Given the description of an element on the screen output the (x, y) to click on. 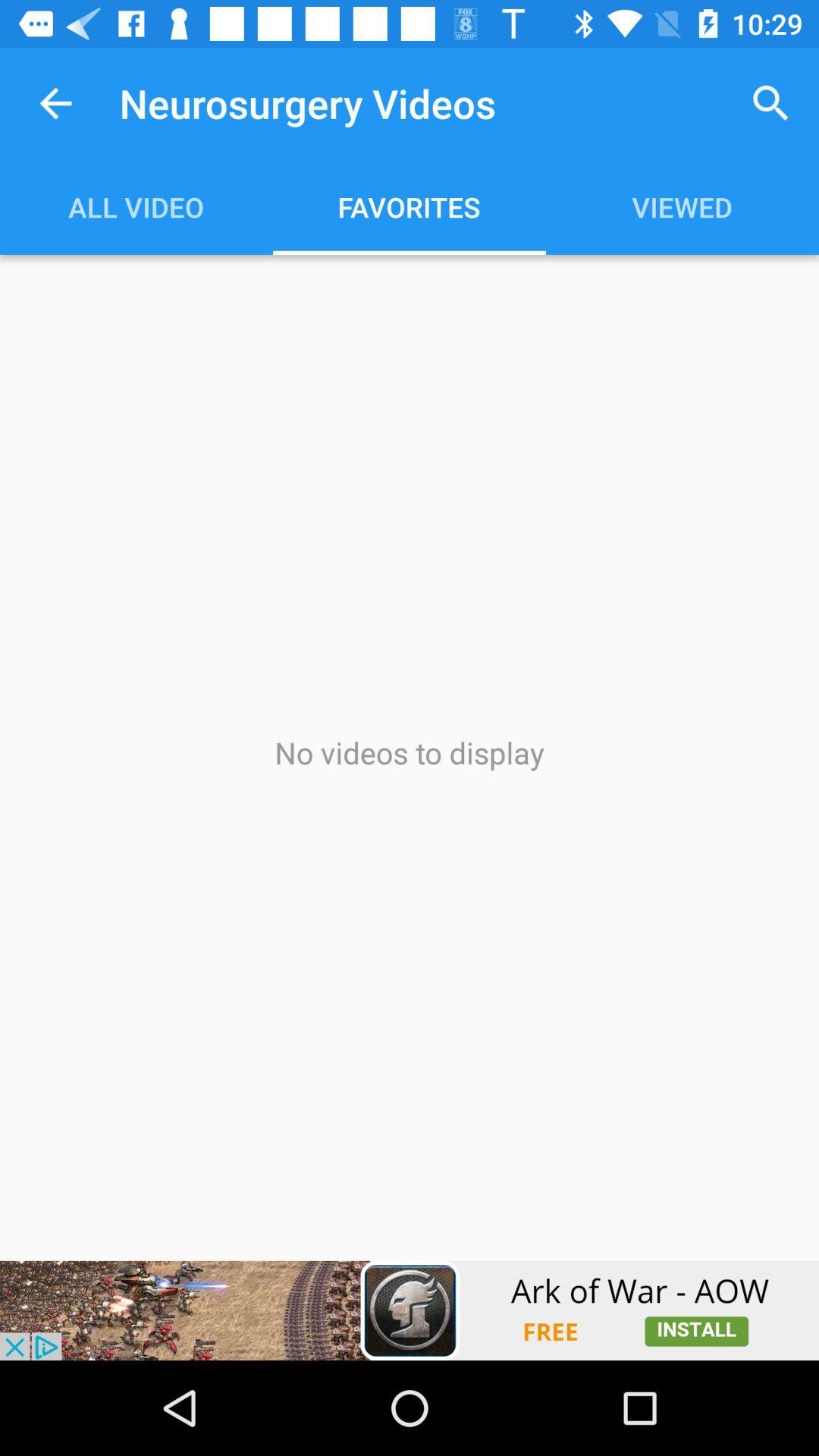
view advertisement (409, 1310)
